Given the description of an element on the screen output the (x, y) to click on. 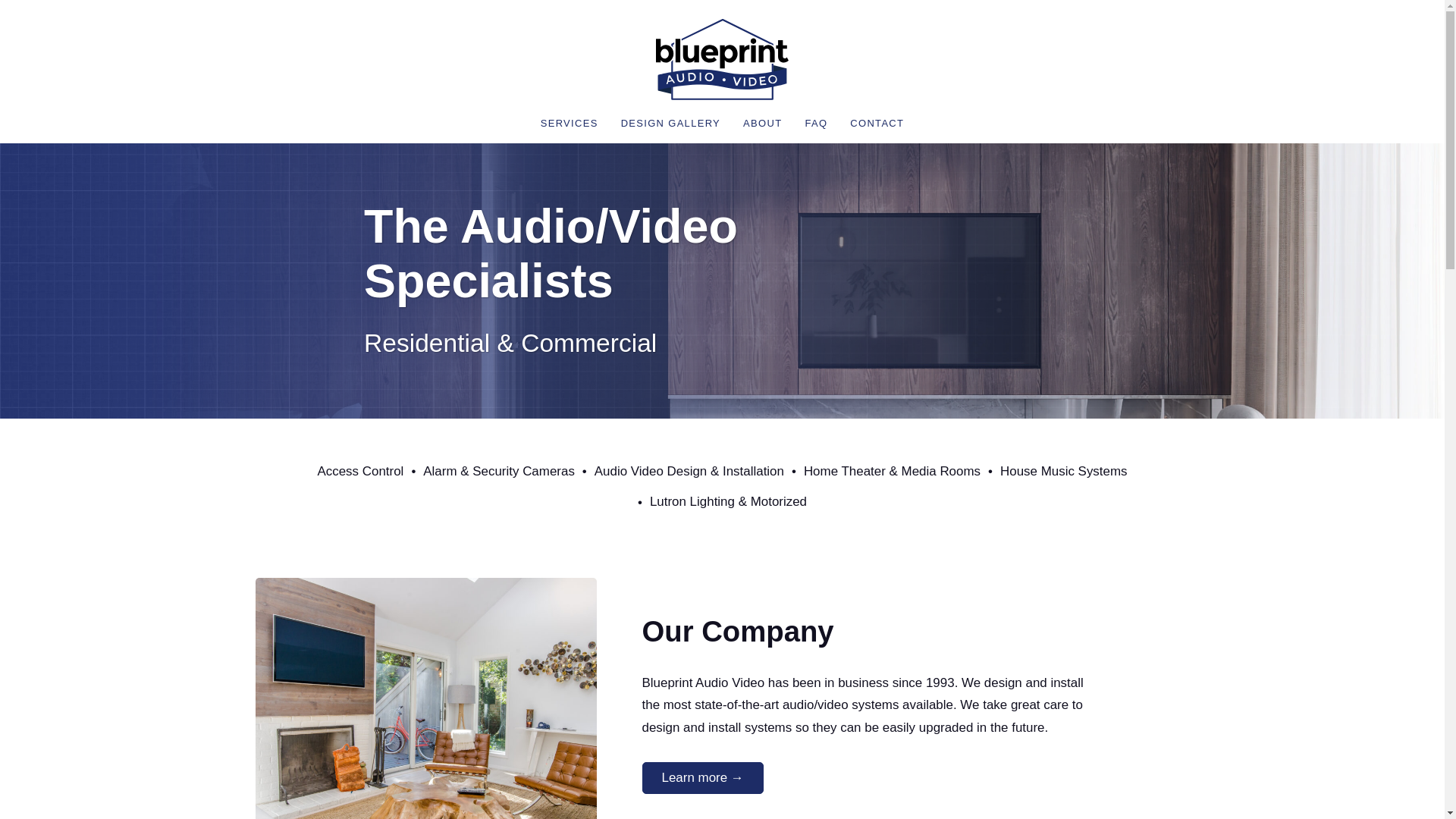
DESIGN GALLERY (670, 125)
SERVICES (568, 125)
FAQ (815, 125)
ABOUT (762, 125)
CONTACT (877, 125)
blueprint audio video (722, 58)
